Given the description of an element on the screen output the (x, y) to click on. 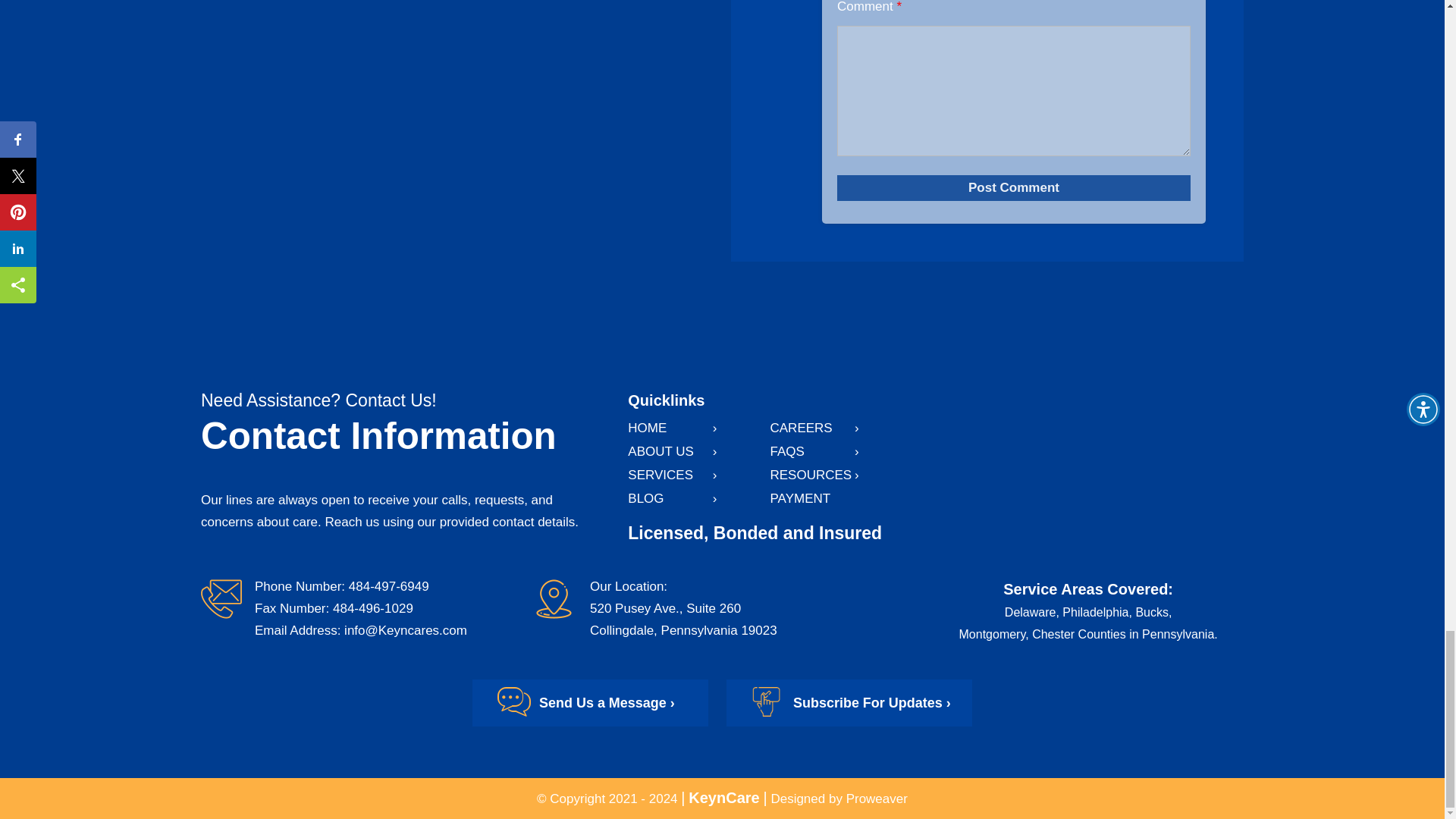
484-496-1029 (373, 608)
484-497-6949 (389, 586)
Post Comment (1014, 187)
Post Comment (1014, 187)
